Given the description of an element on the screen output the (x, y) to click on. 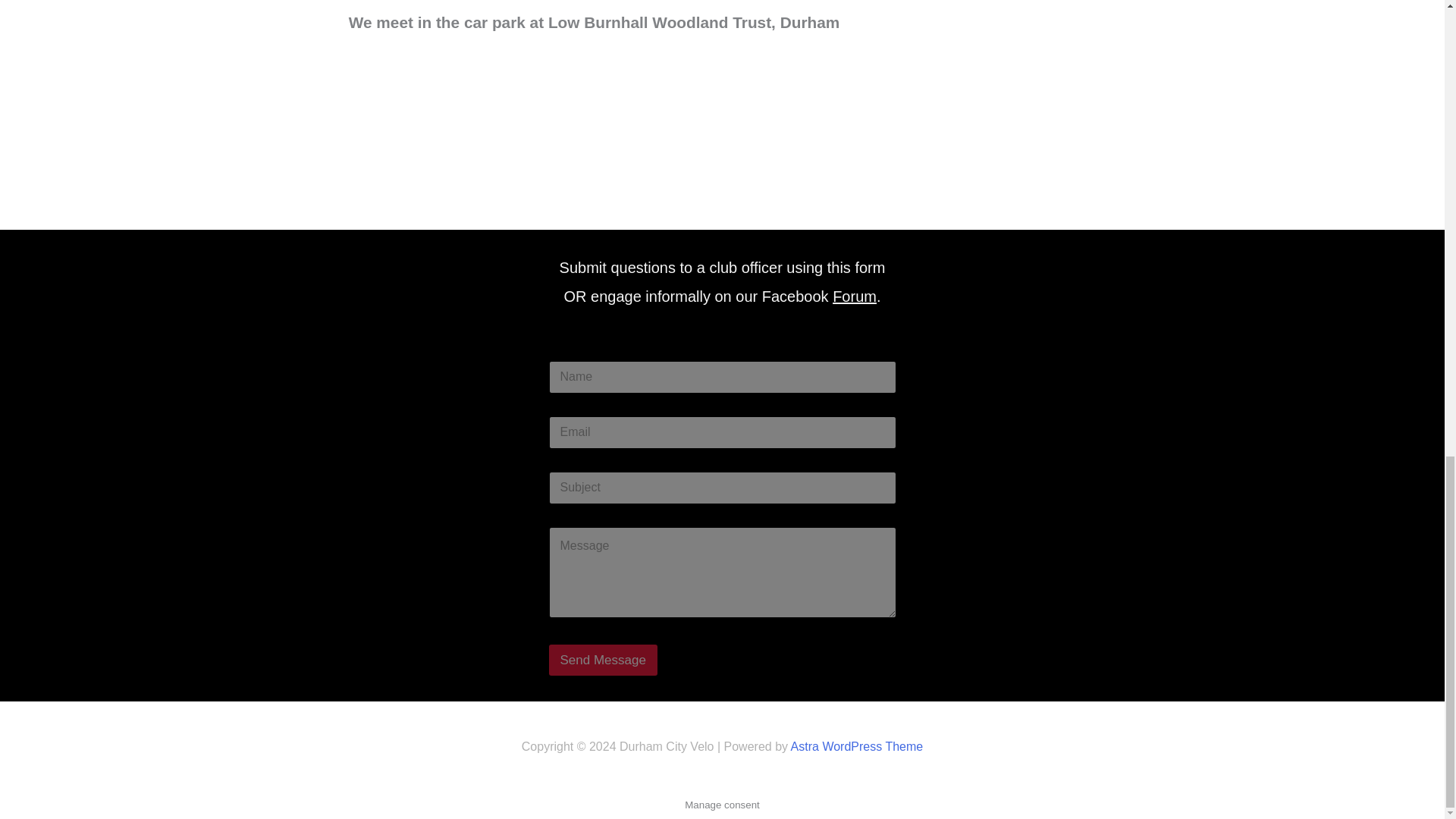
Forum (854, 296)
Astra WordPress Theme (856, 746)
Send Message (603, 659)
